Given the description of an element on the screen output the (x, y) to click on. 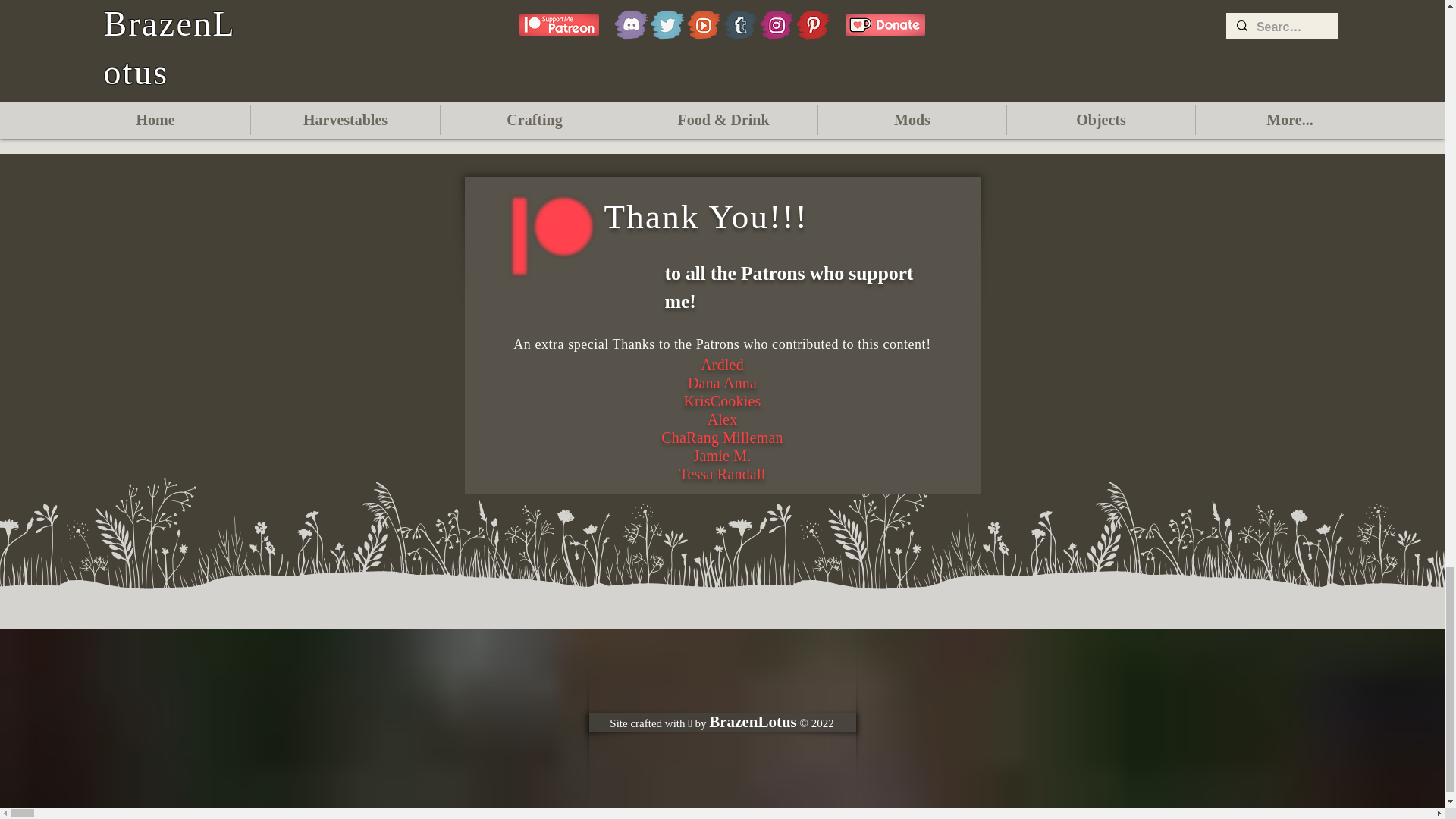
hokkaido milk bread.png (454, 18)
Roasted Pumpkin Seeds.png (588, 18)
